Given the description of an element on the screen output the (x, y) to click on. 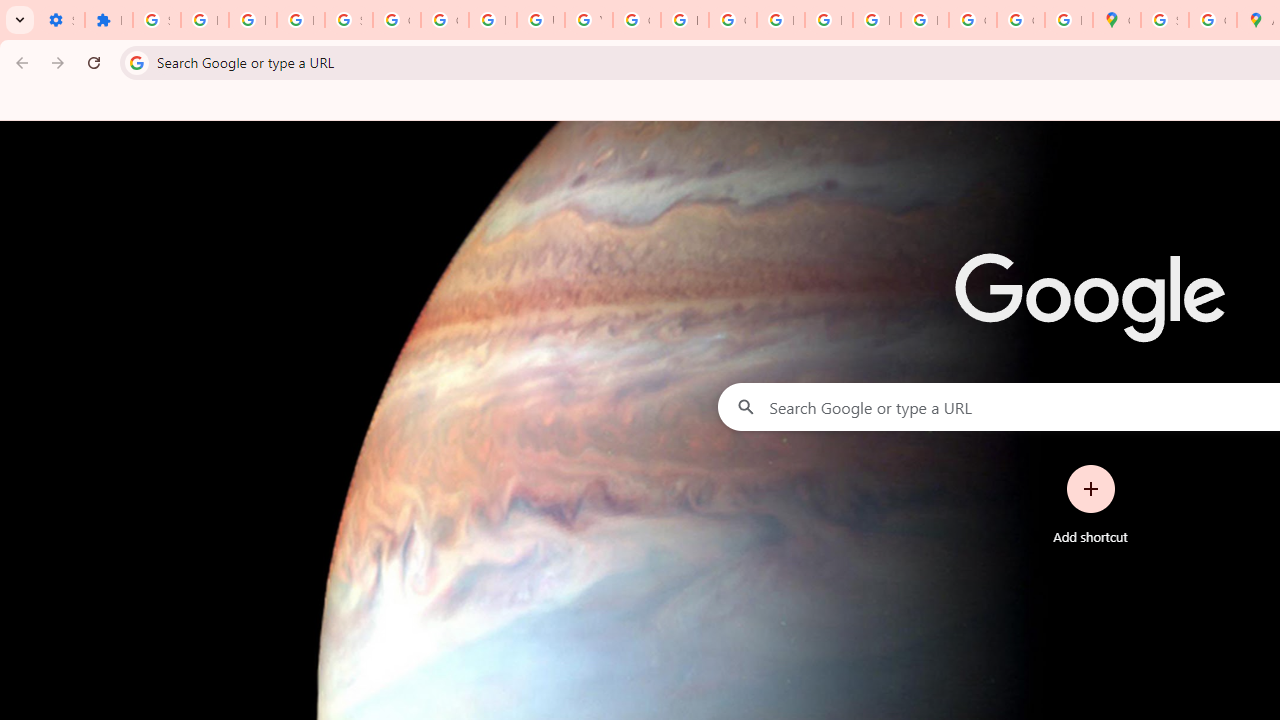
YouTube (588, 20)
